Given the description of an element on the screen output the (x, y) to click on. 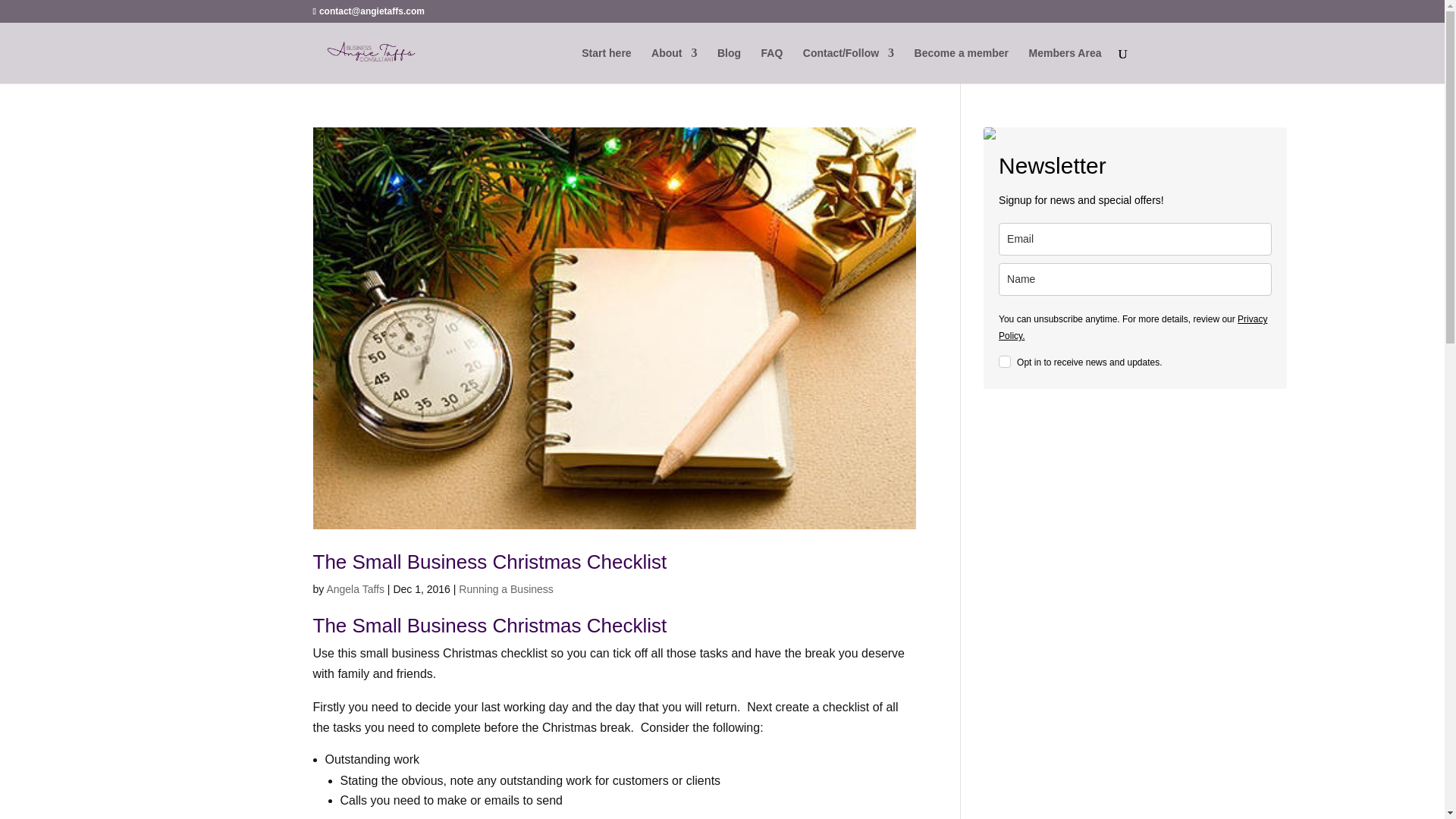
About (673, 65)
Angela Taffs (355, 589)
Posts by Angela Taffs (355, 589)
The Small Business Christmas Checklist (489, 561)
Members Area (1065, 65)
Privacy Policy. (1132, 327)
Become a member (961, 65)
Running a Business (505, 589)
Start here (605, 65)
